Given the description of an element on the screen output the (x, y) to click on. 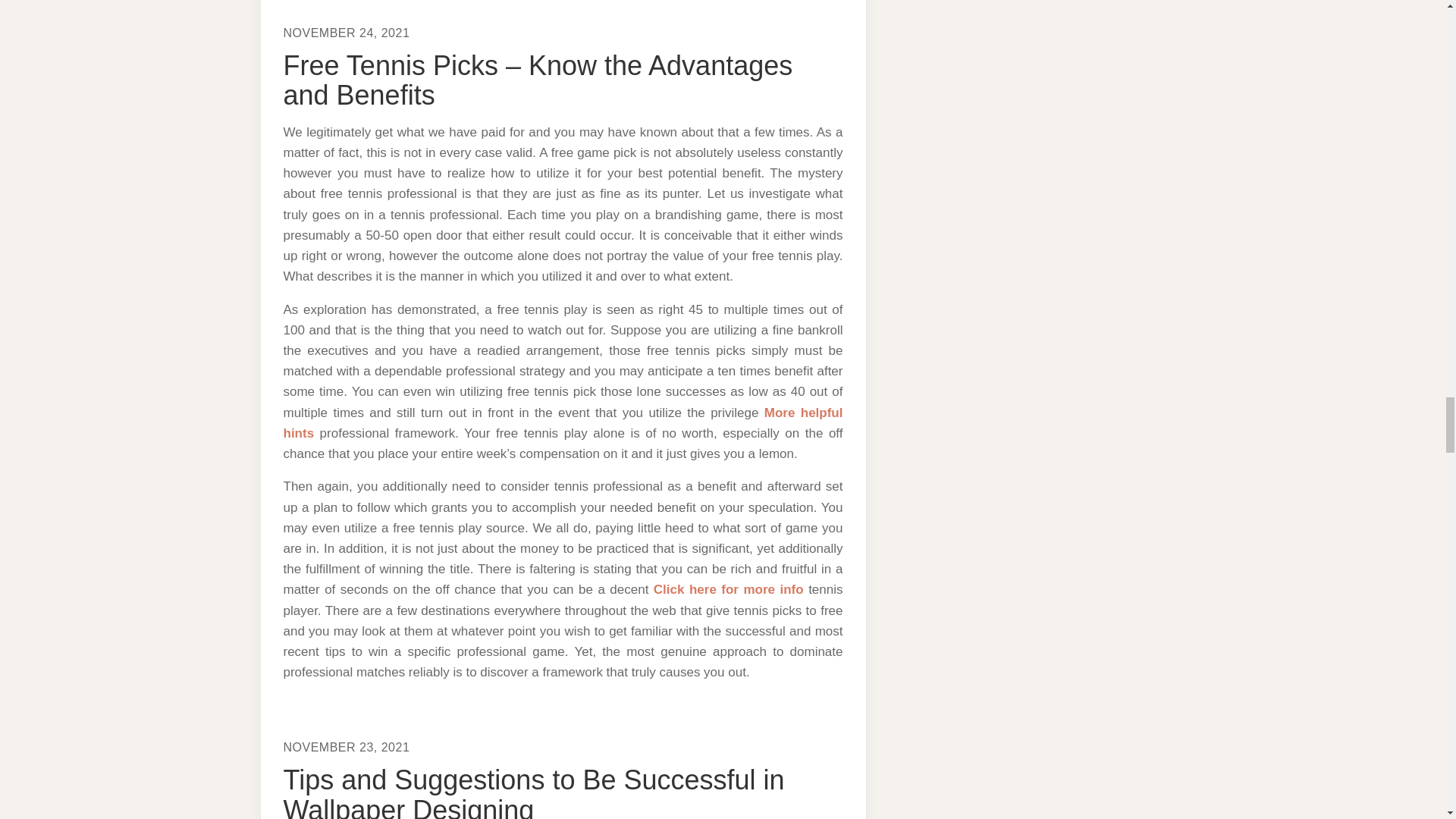
NOVEMBER 24, 2021 (346, 32)
Tips and Suggestions to Be Successful in Wallpaper Designing (533, 791)
More helpful hints (563, 422)
Click here for more info (728, 589)
NOVEMBER 23, 2021 (346, 747)
